Given the description of an element on the screen output the (x, y) to click on. 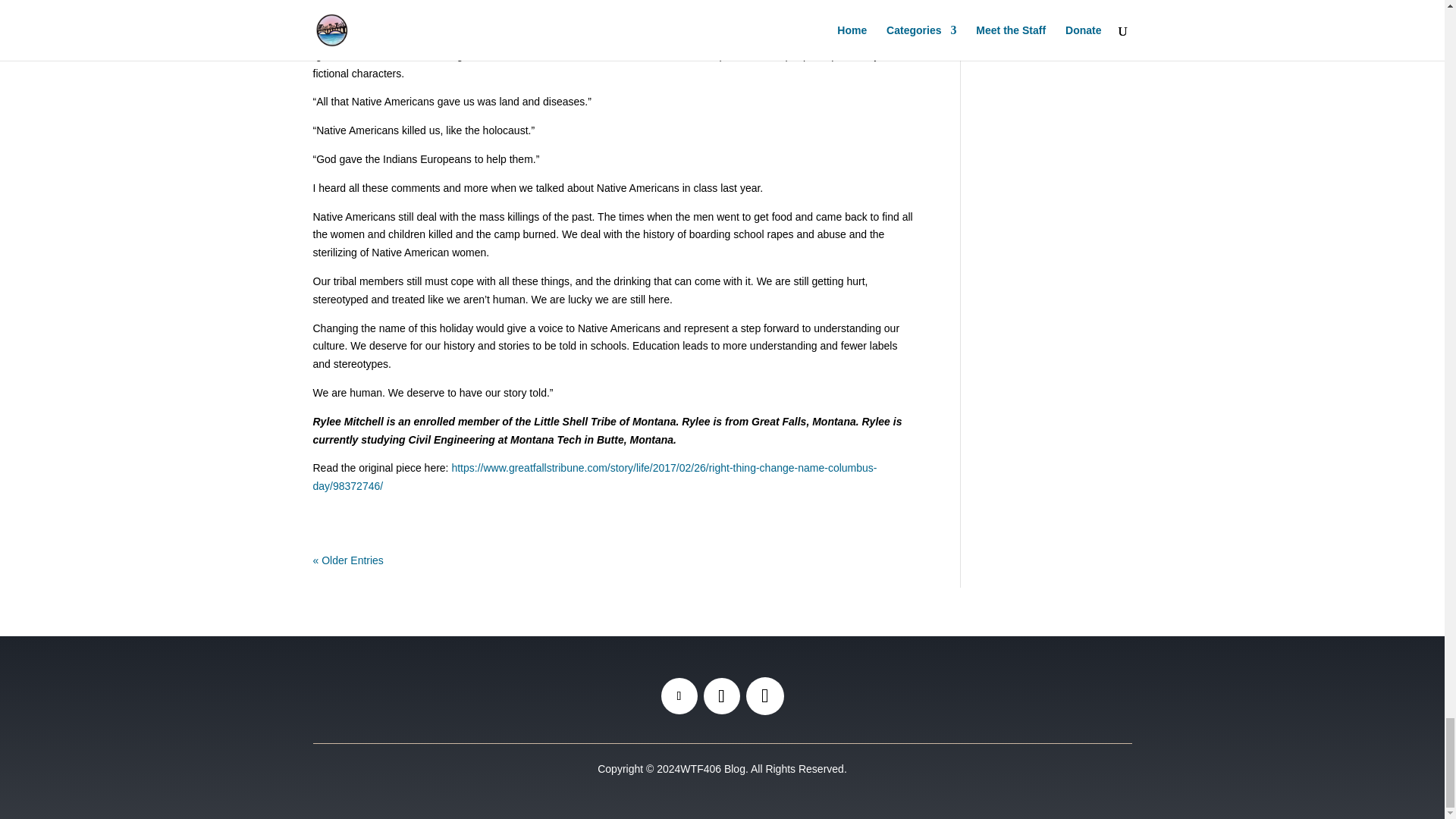
Follow on TikTok (764, 695)
Follow on Facebook (679, 696)
Follow on Instagram (721, 696)
